Given the description of an element on the screen output the (x, y) to click on. 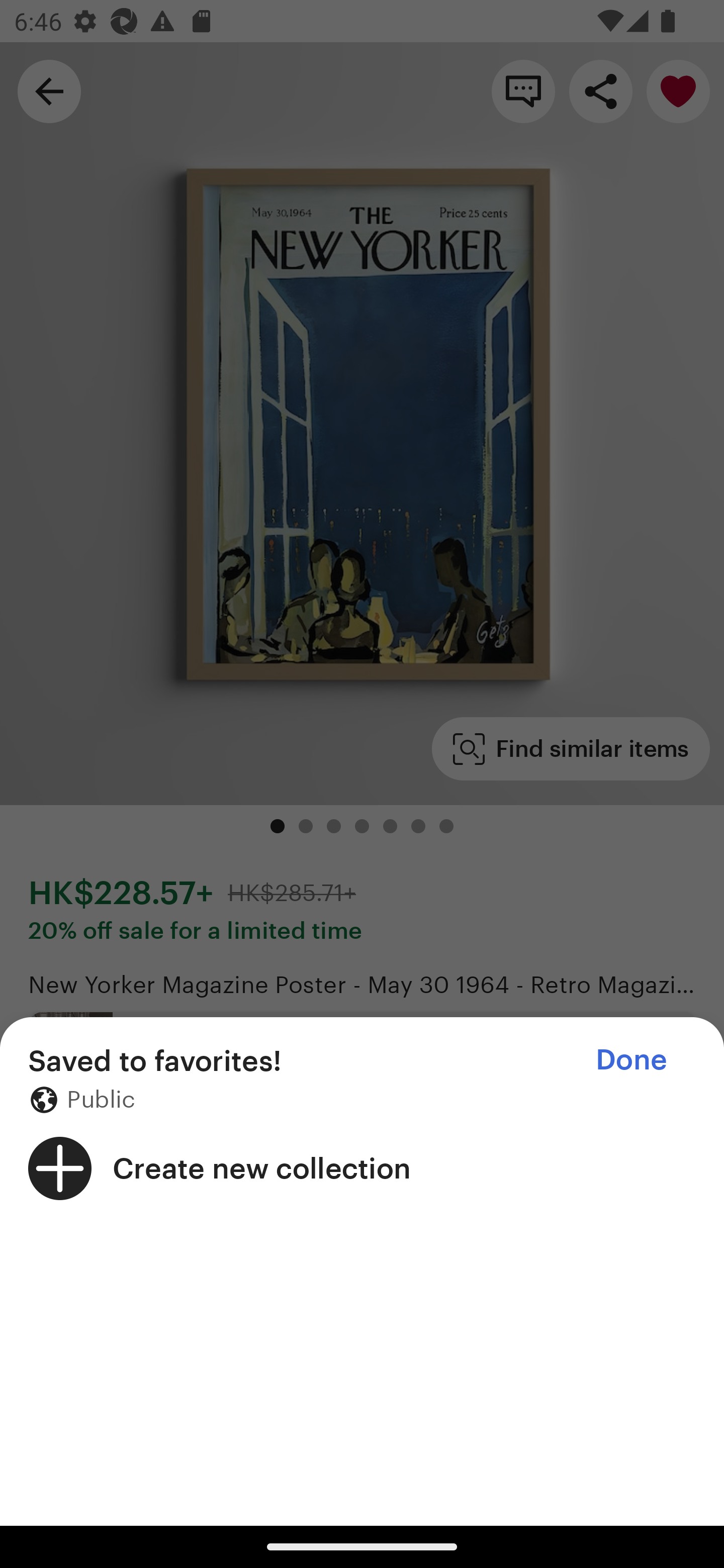
Done (630, 1059)
Create new collection (361, 1167)
